Given the description of an element on the screen output the (x, y) to click on. 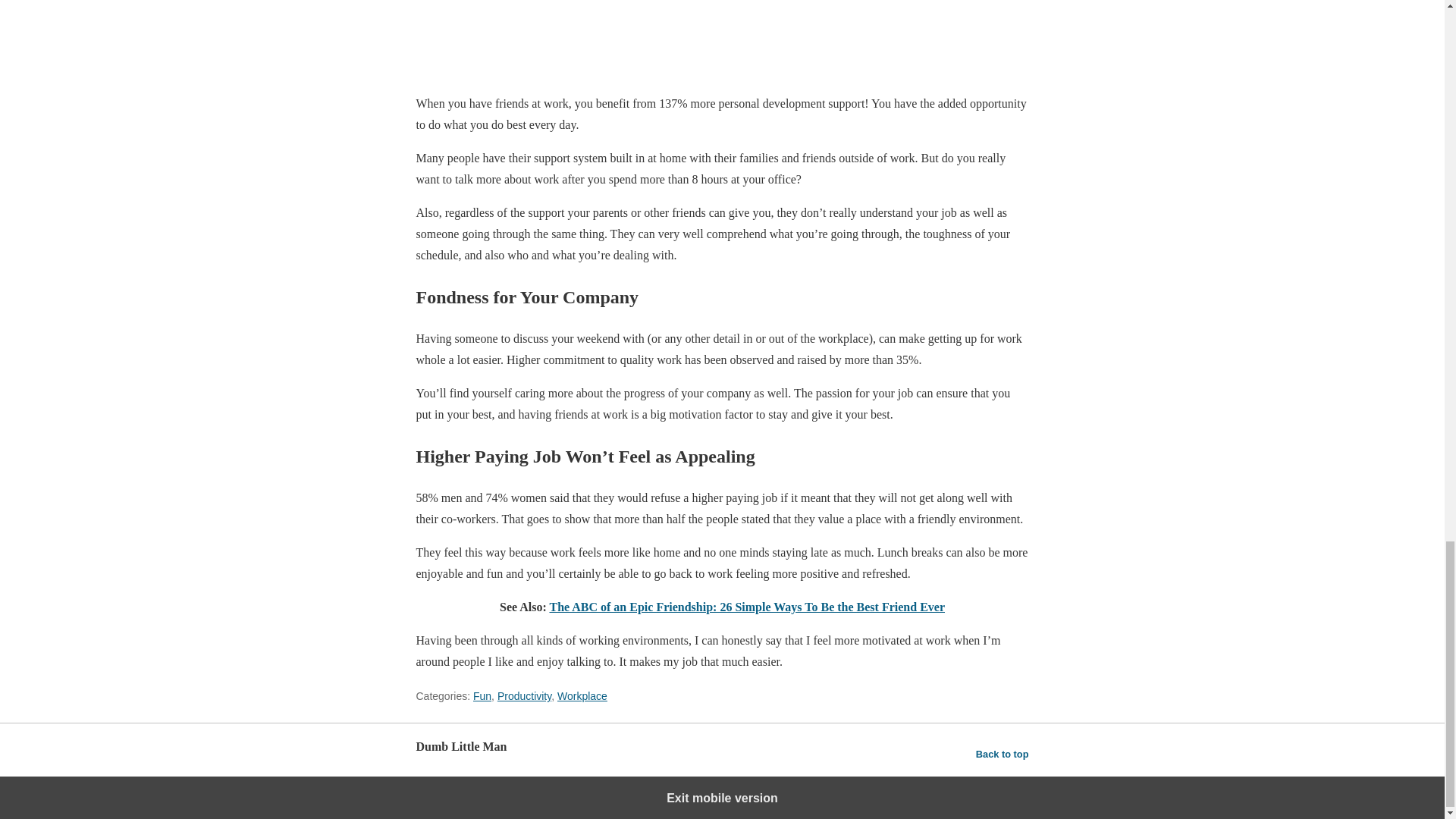
Productivity (524, 695)
Workplace (582, 695)
Fun (482, 695)
Back to top (1002, 754)
